Given the description of an element on the screen output the (x, y) to click on. 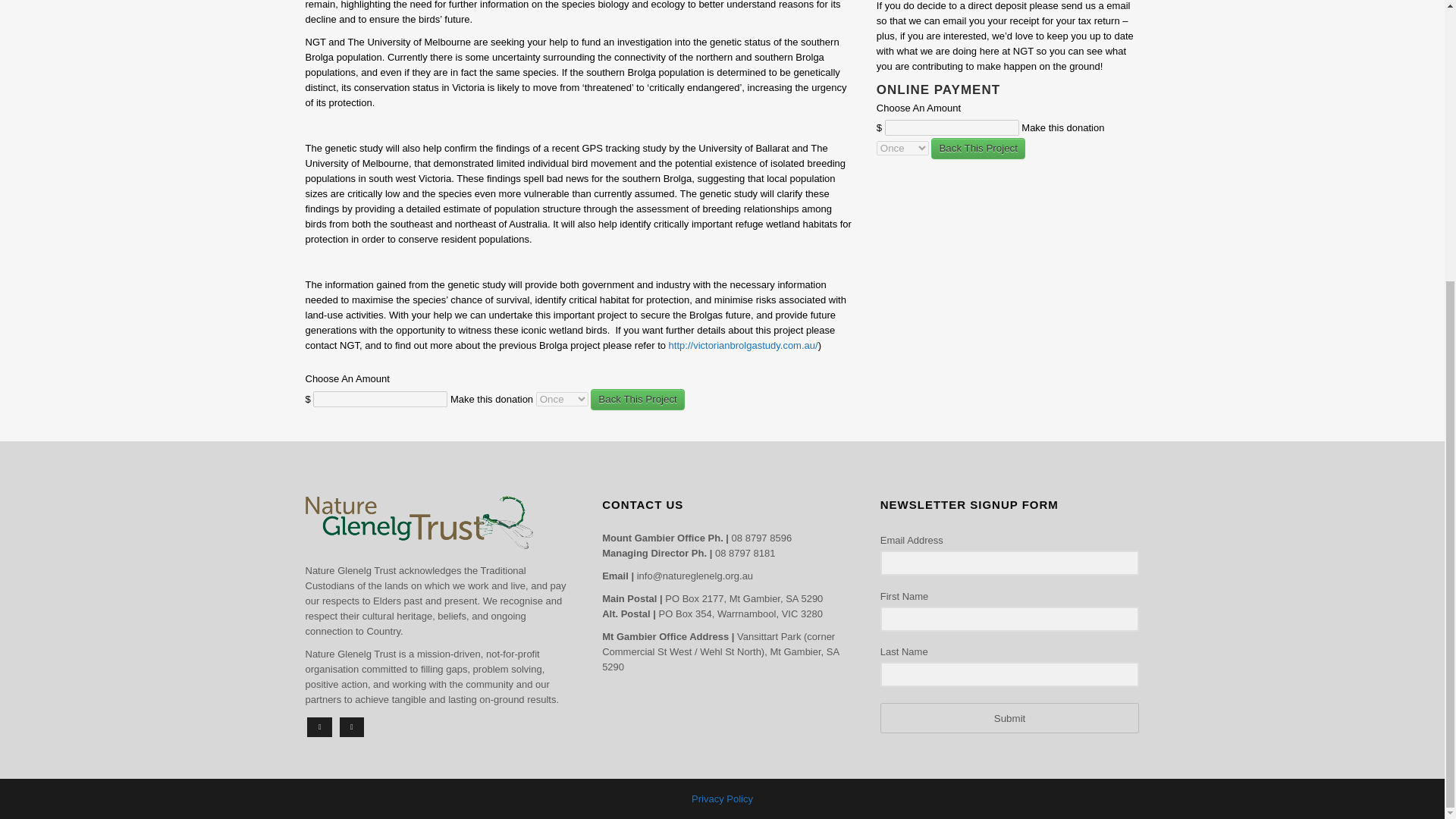
Back This Project (978, 148)
Back This Project (637, 399)
